Given the description of an element on the screen output the (x, y) to click on. 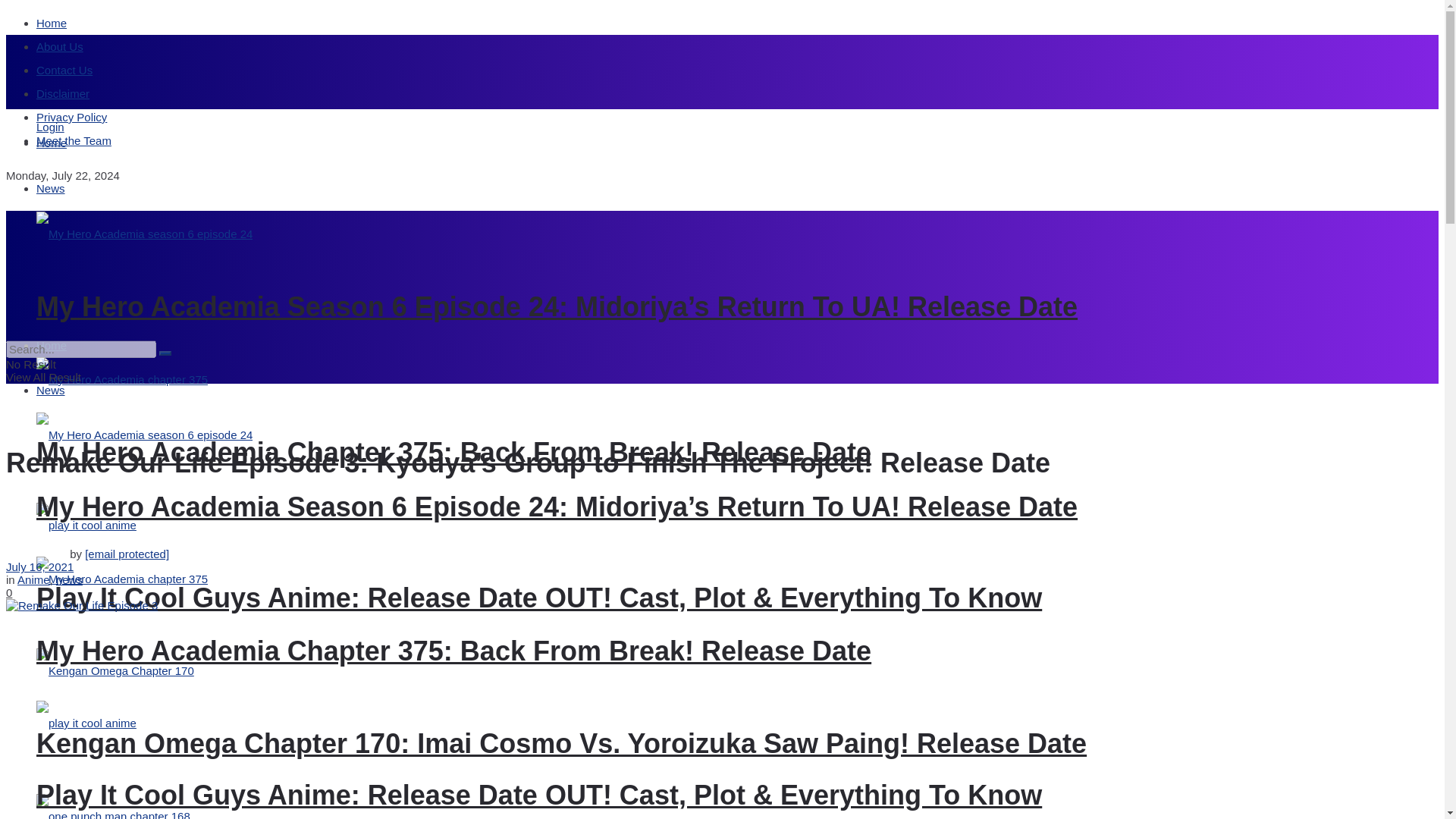
Home (51, 22)
My Hero Academia Chapter 375: Back From Break! Release Date (453, 451)
Login (50, 126)
Meet the Team (74, 140)
Contact Us (64, 69)
Privacy Policy (71, 116)
About Us (59, 46)
Home (51, 142)
News (50, 187)
Disclaimer (62, 92)
